Given the description of an element on the screen output the (x, y) to click on. 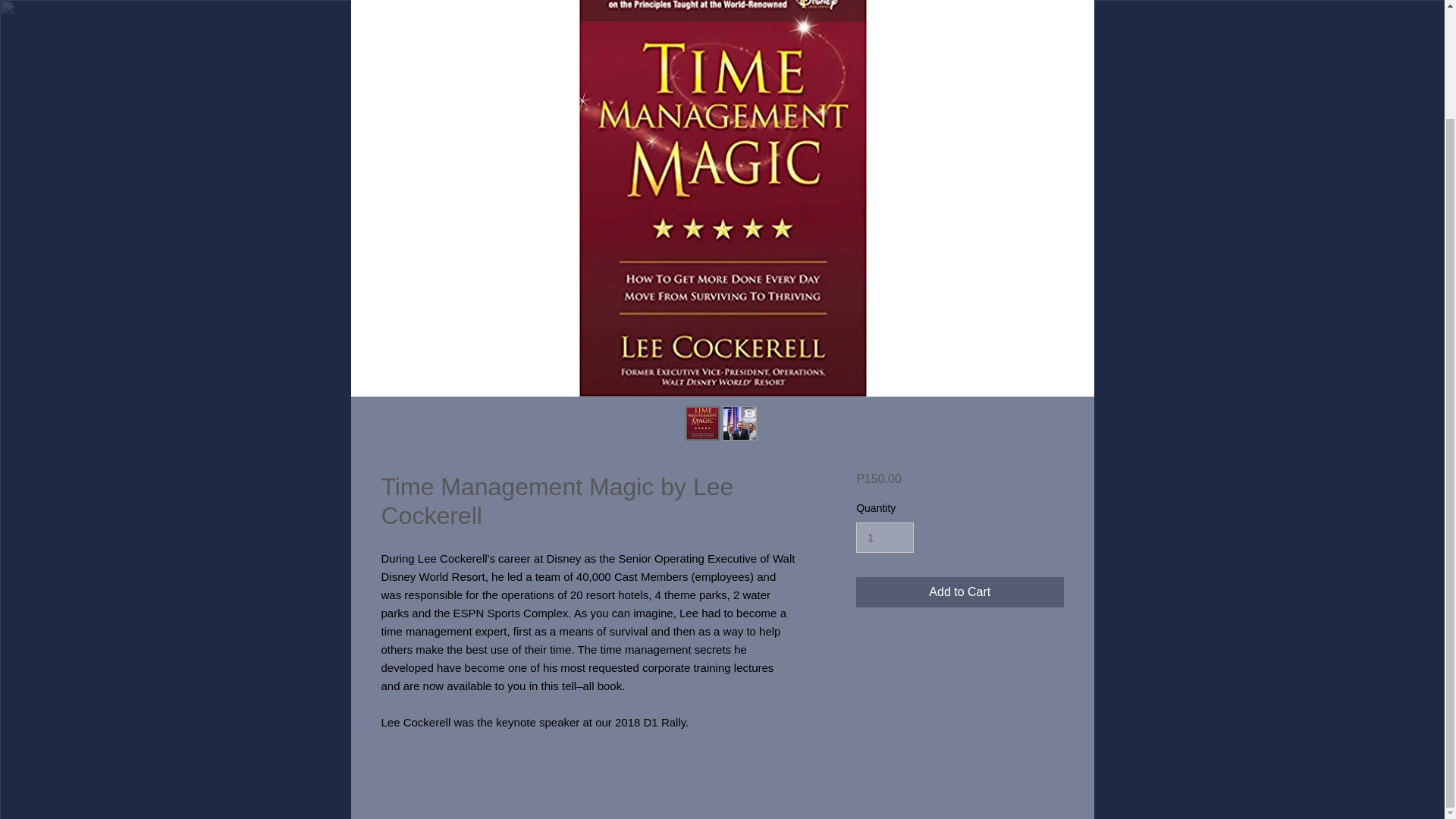
Add to Cart (959, 592)
1 (885, 537)
